Given the description of an element on the screen output the (x, y) to click on. 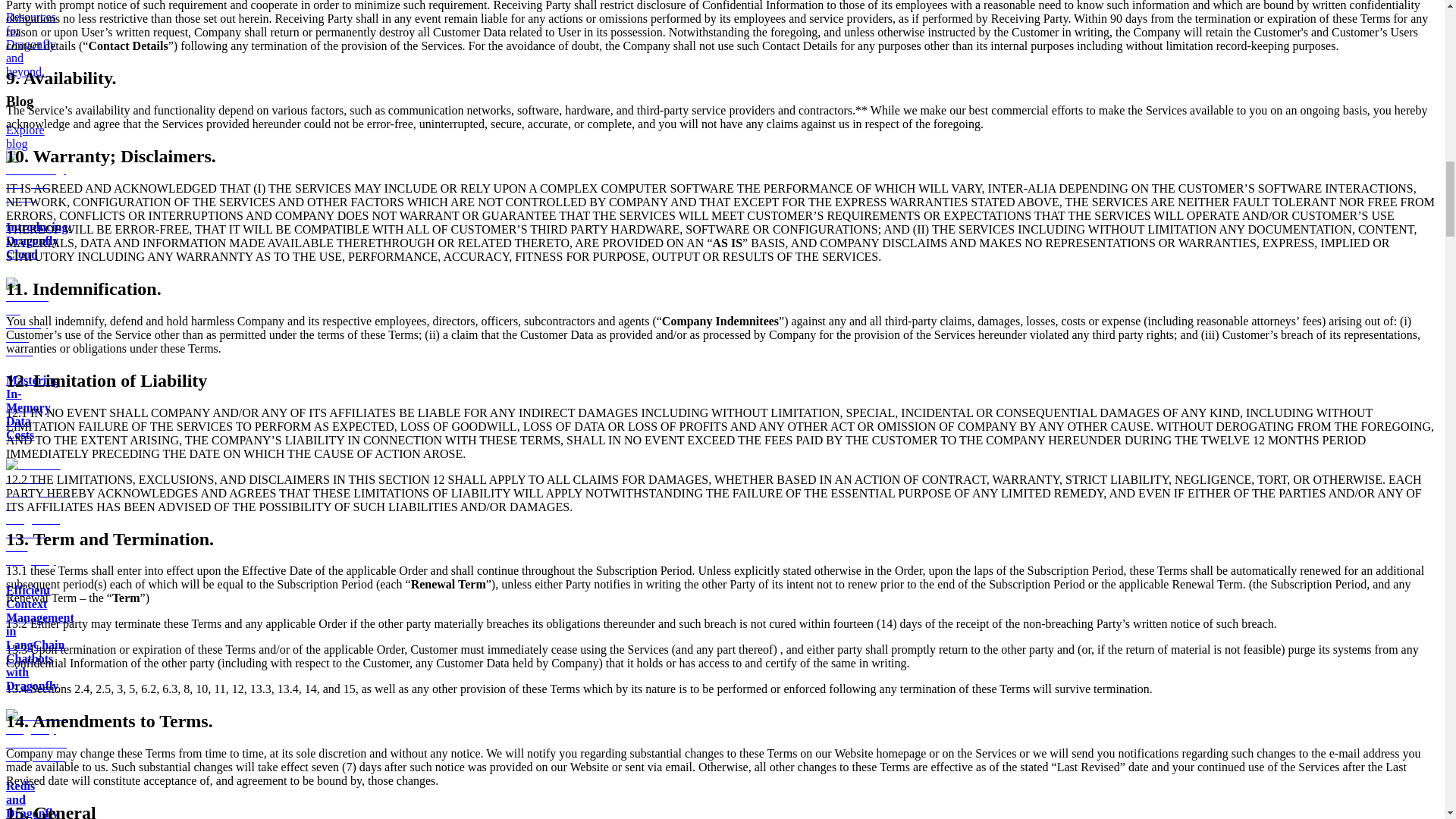
Explore blog (25, 136)
Mastering In-Memory Data Costs (30, 455)
Introducing: Dragonfly Cloud (35, 273)
Redis and Dragonfly Architecture Comparison (35, 784)
